Given the description of an element on the screen output the (x, y) to click on. 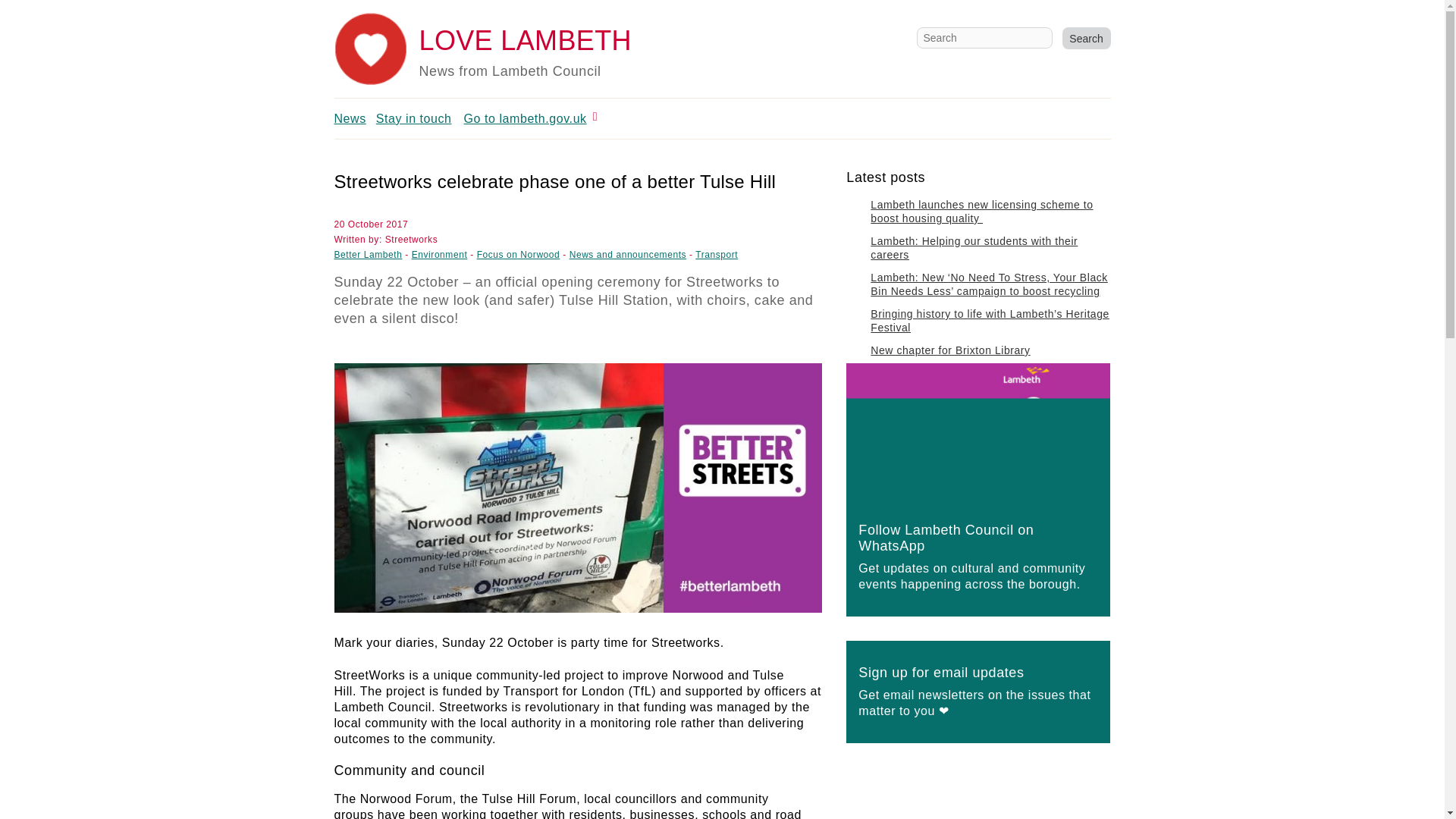
Stay in touch (413, 118)
Lambeth: Helping our students with their careers (973, 248)
Focus on Norwood (518, 254)
Search (1085, 38)
Transport (716, 254)
News (349, 118)
Better Lambeth (367, 254)
